Given the description of an element on the screen output the (x, y) to click on. 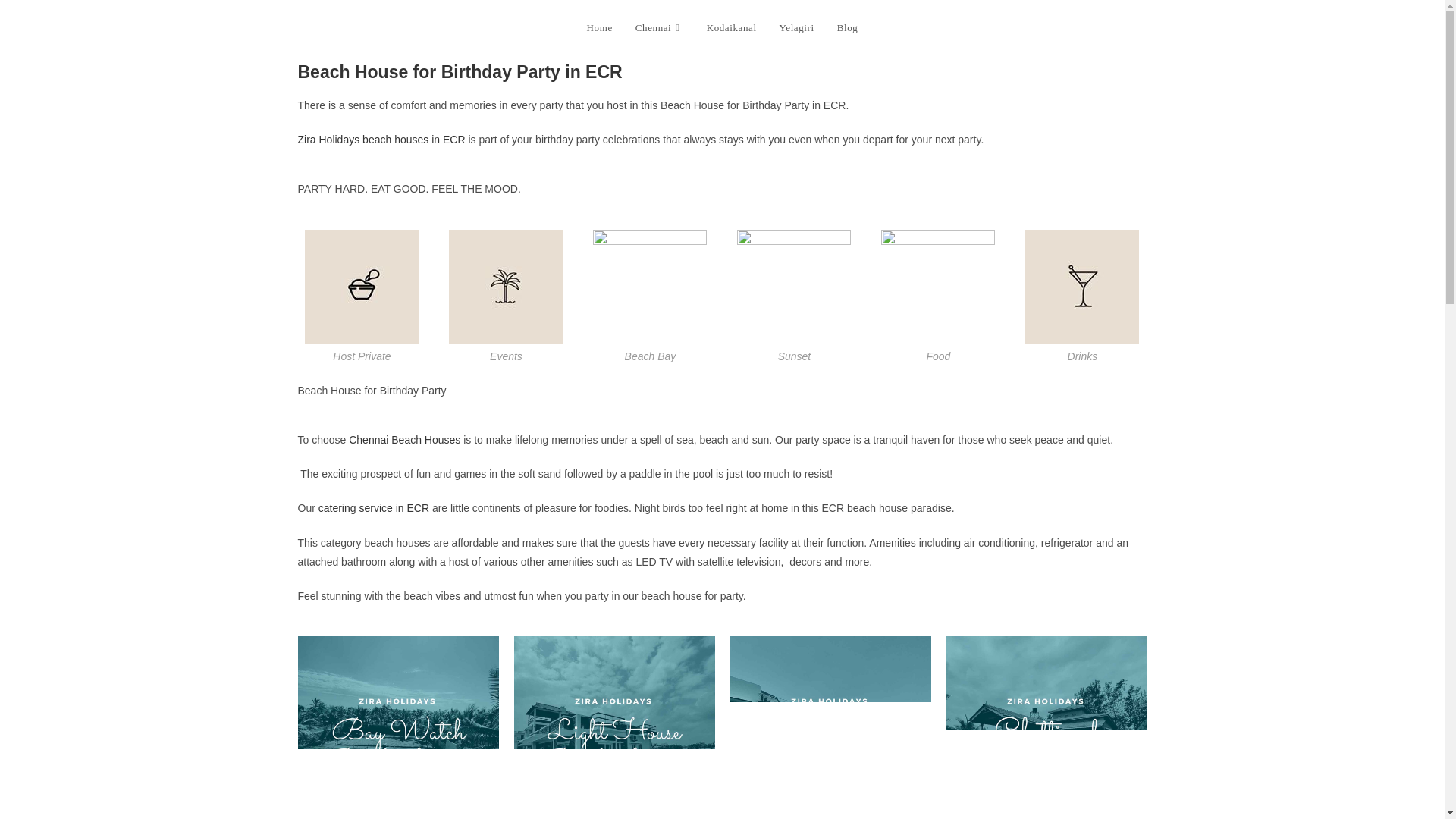
Zira Holidays (328, 139)
beach houses in ECR (413, 139)
Kodaikanal (731, 28)
catering service in ECR (373, 508)
Chennai Beach Houses (404, 439)
Yelagiri (796, 28)
Chennai (659, 28)
